Given the description of an element on the screen output the (x, y) to click on. 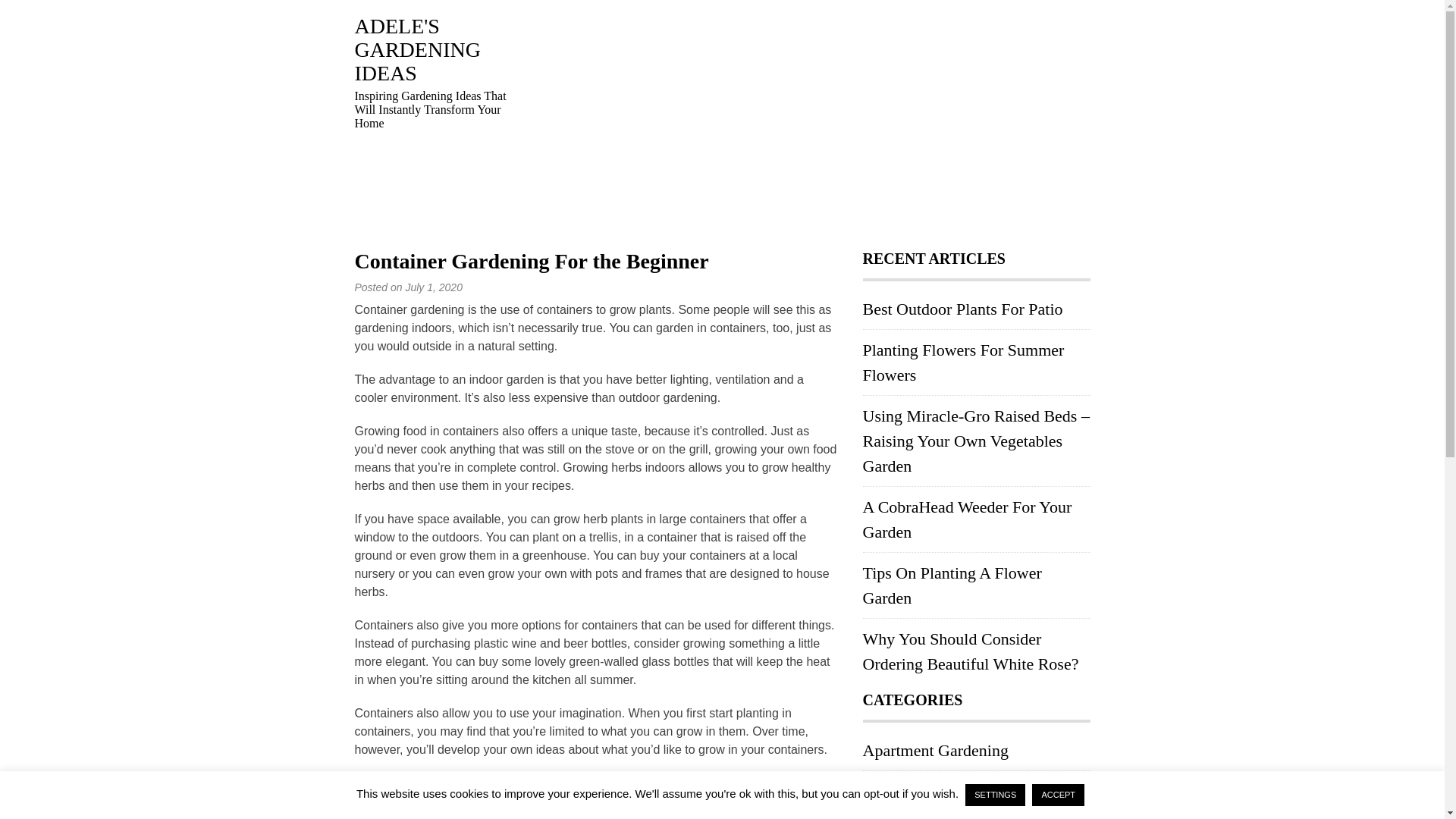
Best Outdoor Plants For Patio (962, 308)
ACCEPT (1058, 794)
ADELE'S GARDENING IDEAS (417, 49)
Carnivorous Plants (926, 791)
Tips On Planting A Flower Garden (952, 585)
SETTINGS (995, 794)
Advertisement (809, 121)
Planting Flowers For Summer Flowers (963, 362)
A CobraHead Weeder For Your Garden (967, 519)
Why You Should Consider Ordering Beautiful White Rose? (970, 651)
July 1, 2020 (433, 287)
Apartment Gardening (936, 750)
